Given the description of an element on the screen output the (x, y) to click on. 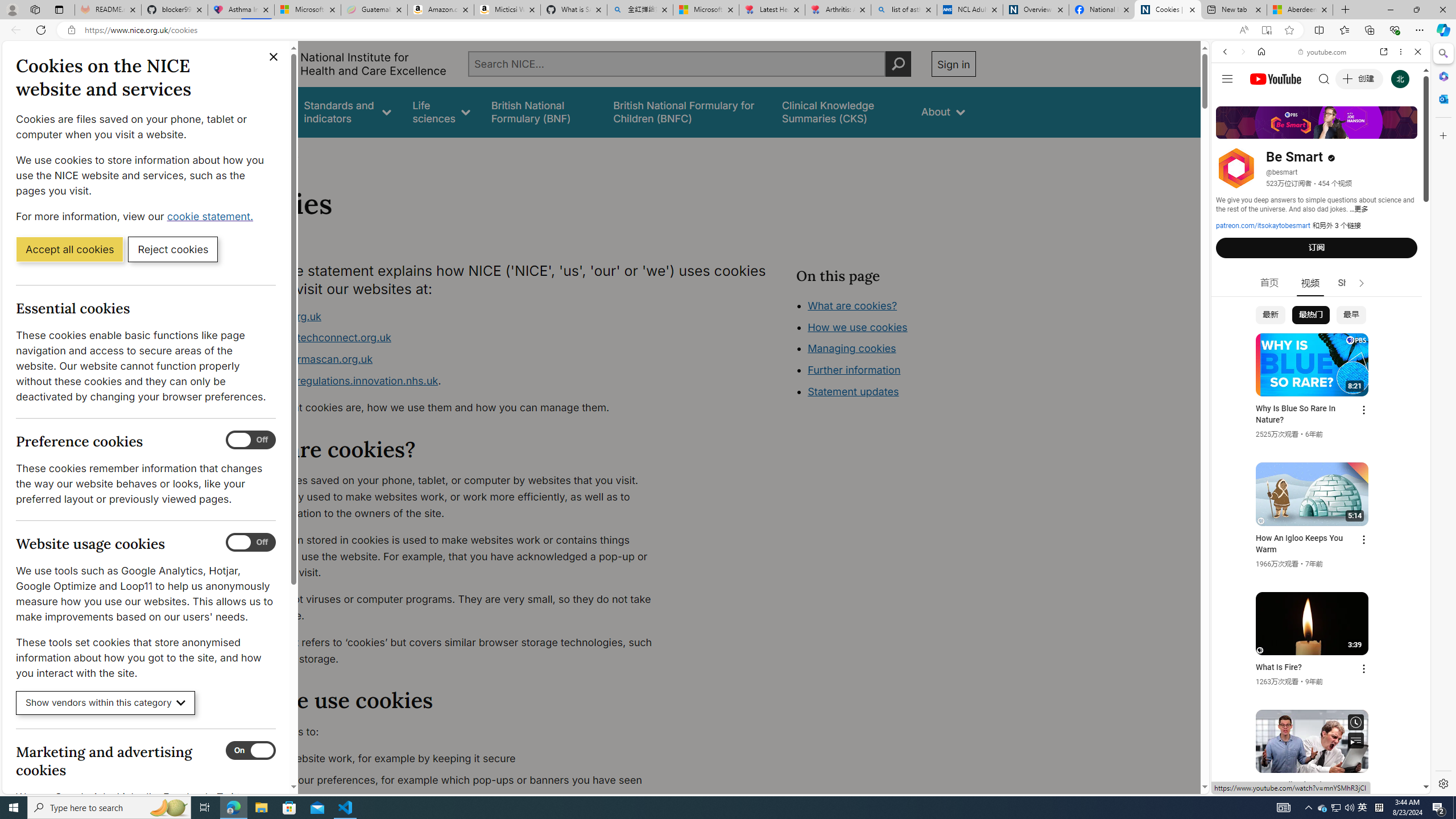
Show vendors within this category (105, 703)
Marketing and advertising cookies (250, 750)
Cookies | About | NICE (1167, 9)
Class: style-scope tp-yt-iron-icon (1361, 283)
